Given the description of an element on the screen output the (x, y) to click on. 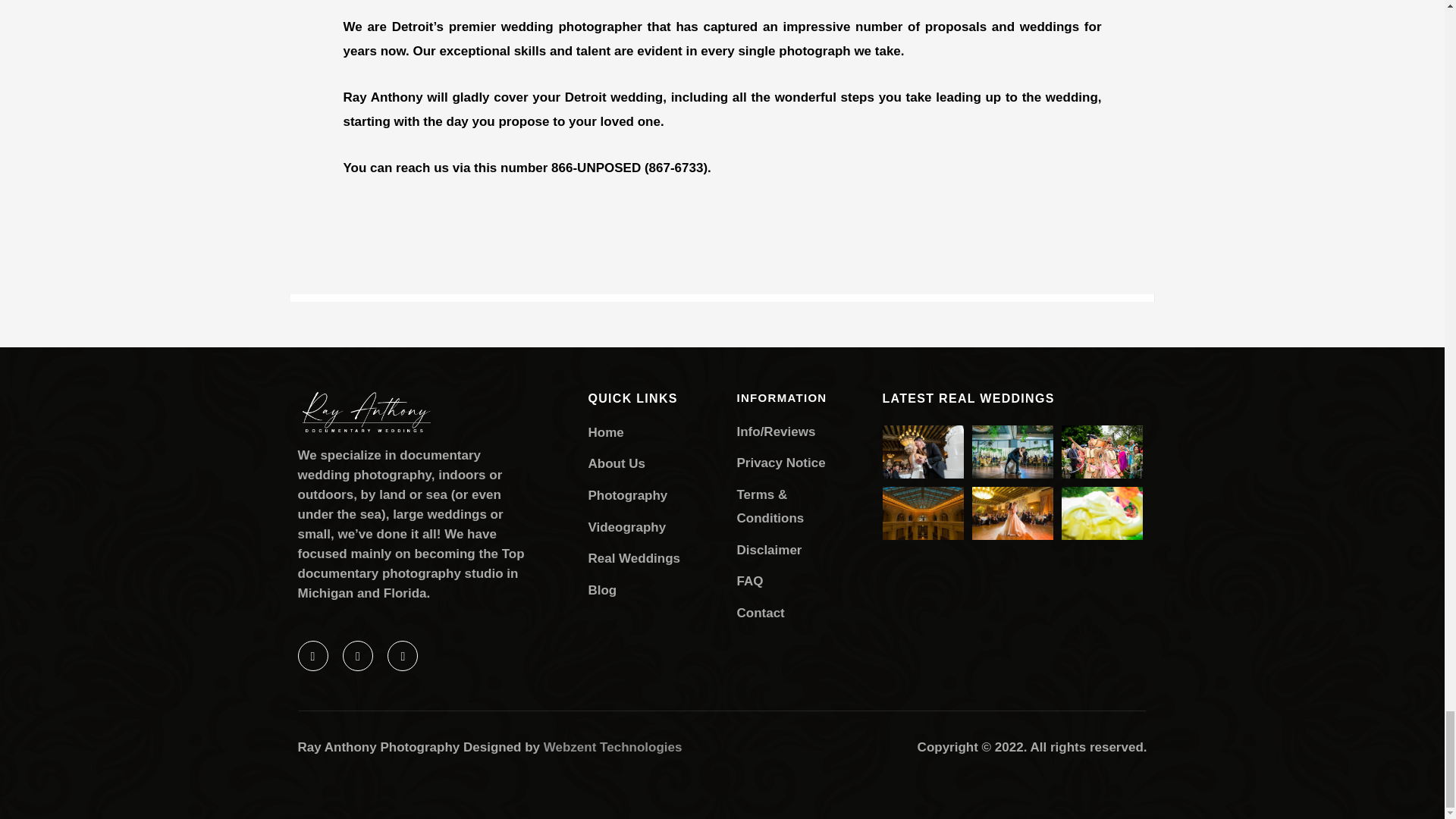
Contact (790, 613)
About Us (654, 463)
Blog (654, 590)
Home (654, 432)
Videography (654, 527)
Photography (654, 495)
Real Weddings (654, 558)
Disclaimer (790, 550)
Privacy Notice (790, 463)
FAQ (790, 581)
